Given the description of an element on the screen output the (x, y) to click on. 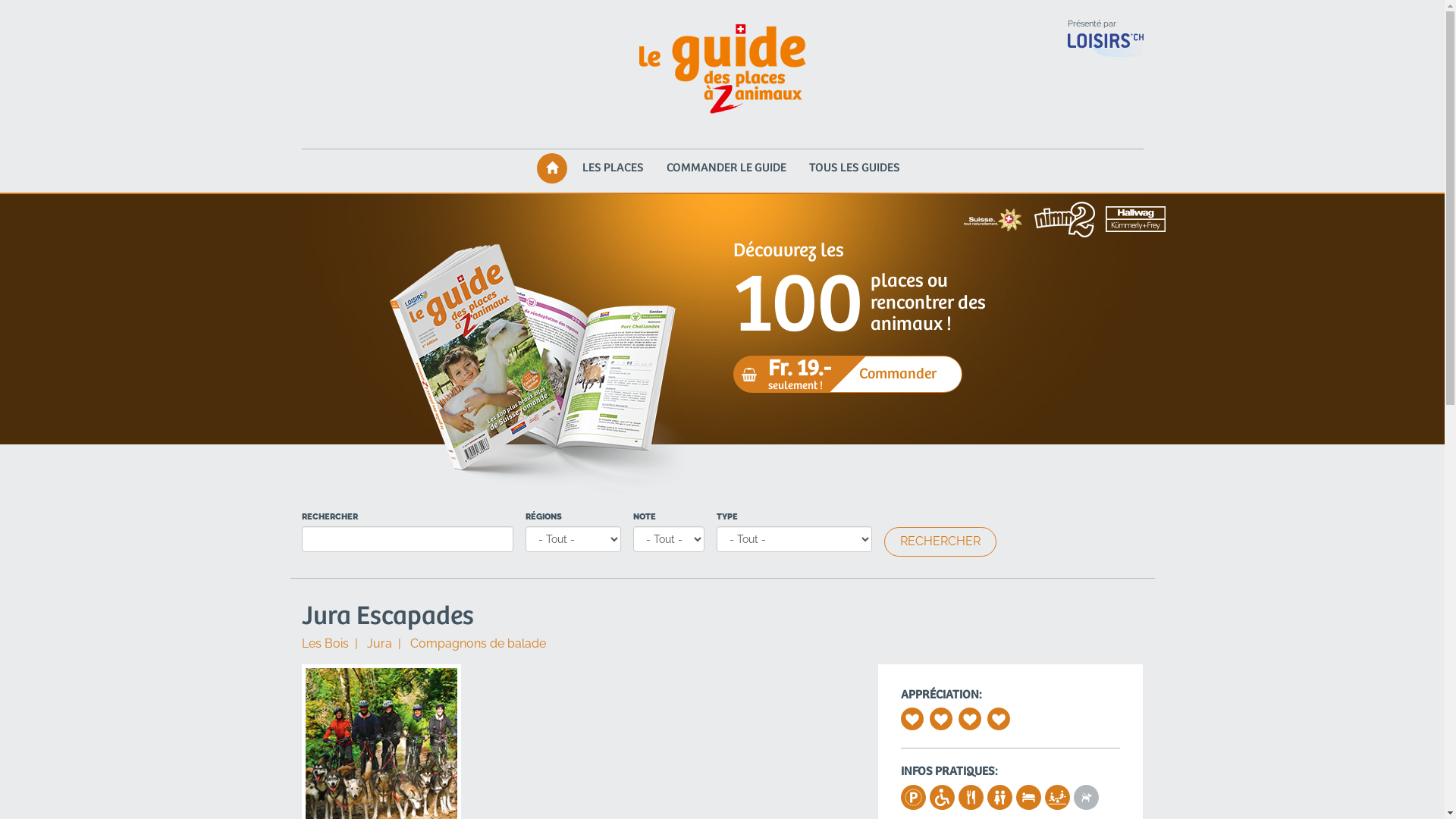
TOUS LES GUIDES Element type: text (854, 168)
note 1 active Element type: hover (911, 718)
COMMANDER LE GUIDE Element type: text (726, 168)
Place de jeux accessible Element type: hover (1055, 799)
note 2 active Element type: hover (940, 718)
Accueil Element type: hover (722, 69)
Restauration disponible Element type: hover (969, 799)
LES PLACES Element type: text (613, 168)
note 3 active Element type: hover (969, 718)
Aller au contenu principal Element type: text (0, 6)
Fr. 19.-
seulement ! Commander Element type: text (847, 373)
note 4 active Element type: hover (998, 718)
Toilettes disponibles Element type: hover (998, 799)
RECHERCHER Element type: text (940, 541)
Parking disponible Element type: hover (911, 799)
ACCUEIL Element type: text (552, 168)
